Given the description of an element on the screen output the (x, y) to click on. 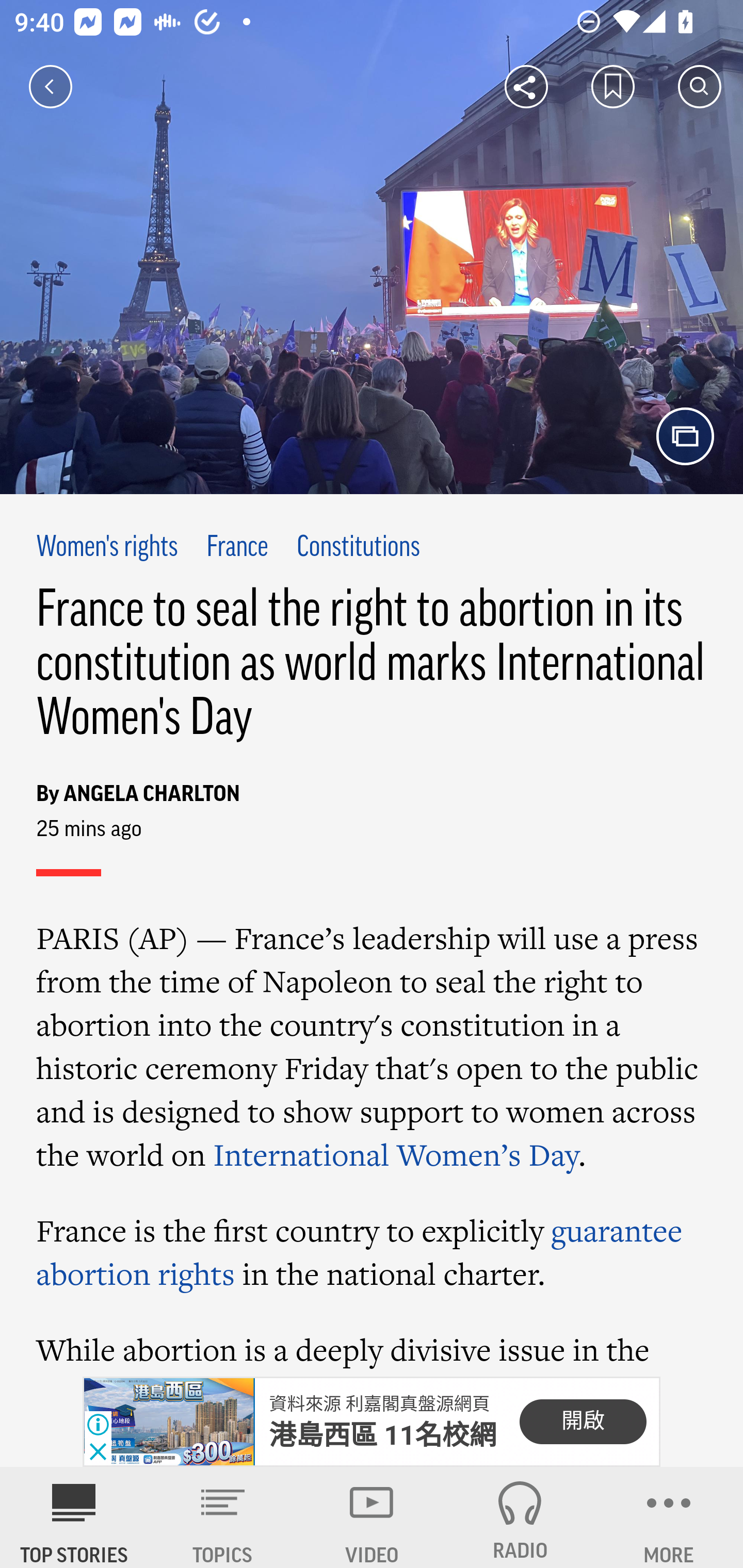
Women's rights (107, 547)
France (236, 547)
Constitutions (358, 547)
International Women’s Day (396, 1154)
guarantee abortion rights (360, 1251)
資料來源 利嘉閣真盤源網頁 (379, 1403)
開啟 (582, 1421)
港島西區 11名校網 (382, 1434)
AP News TOP STORIES (74, 1517)
TOPICS (222, 1517)
VIDEO (371, 1517)
RADIO (519, 1517)
MORE (668, 1517)
